Given the description of an element on the screen output the (x, y) to click on. 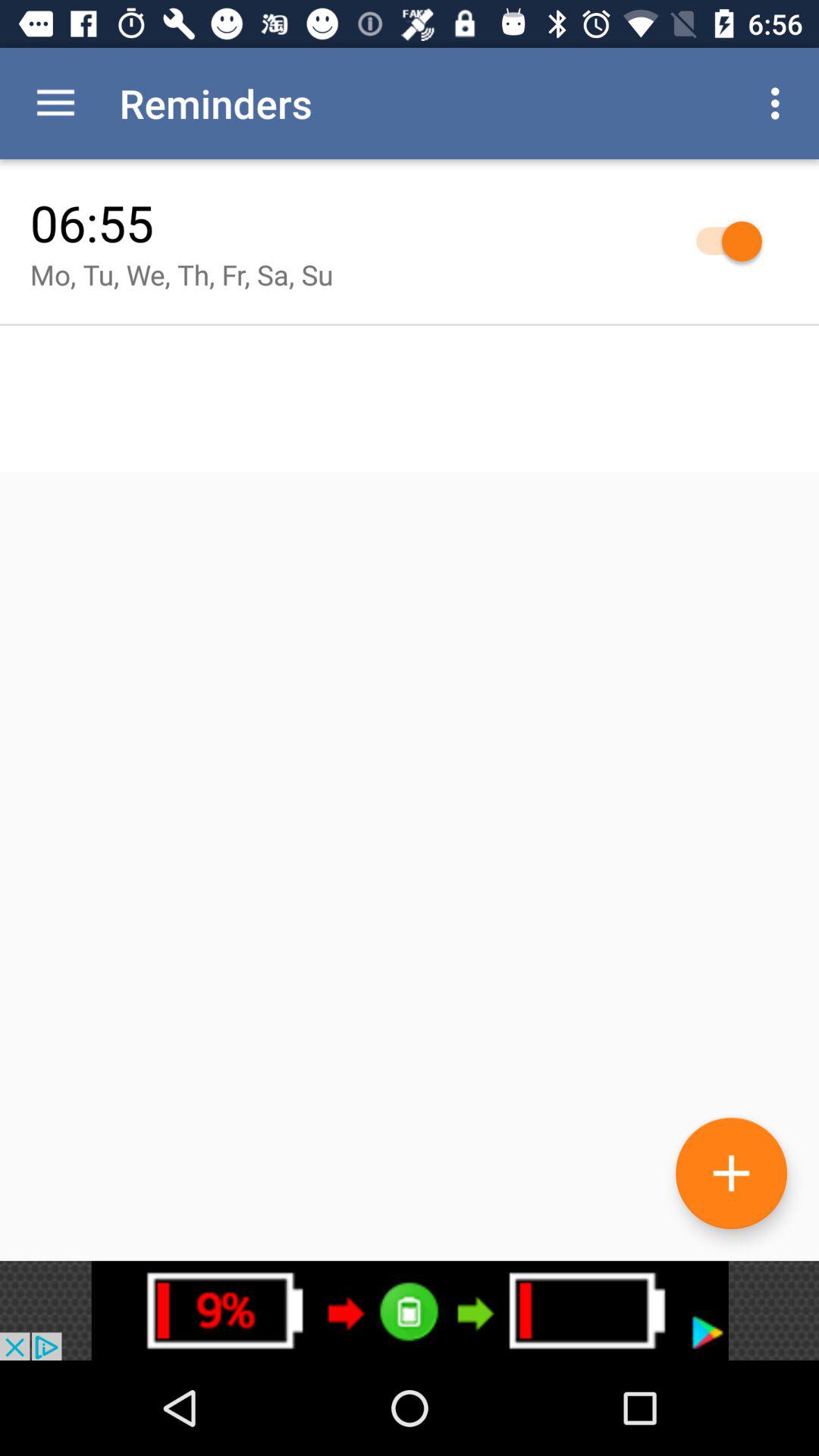
alarm on/off switch (721, 240)
